Given the description of an element on the screen output the (x, y) to click on. 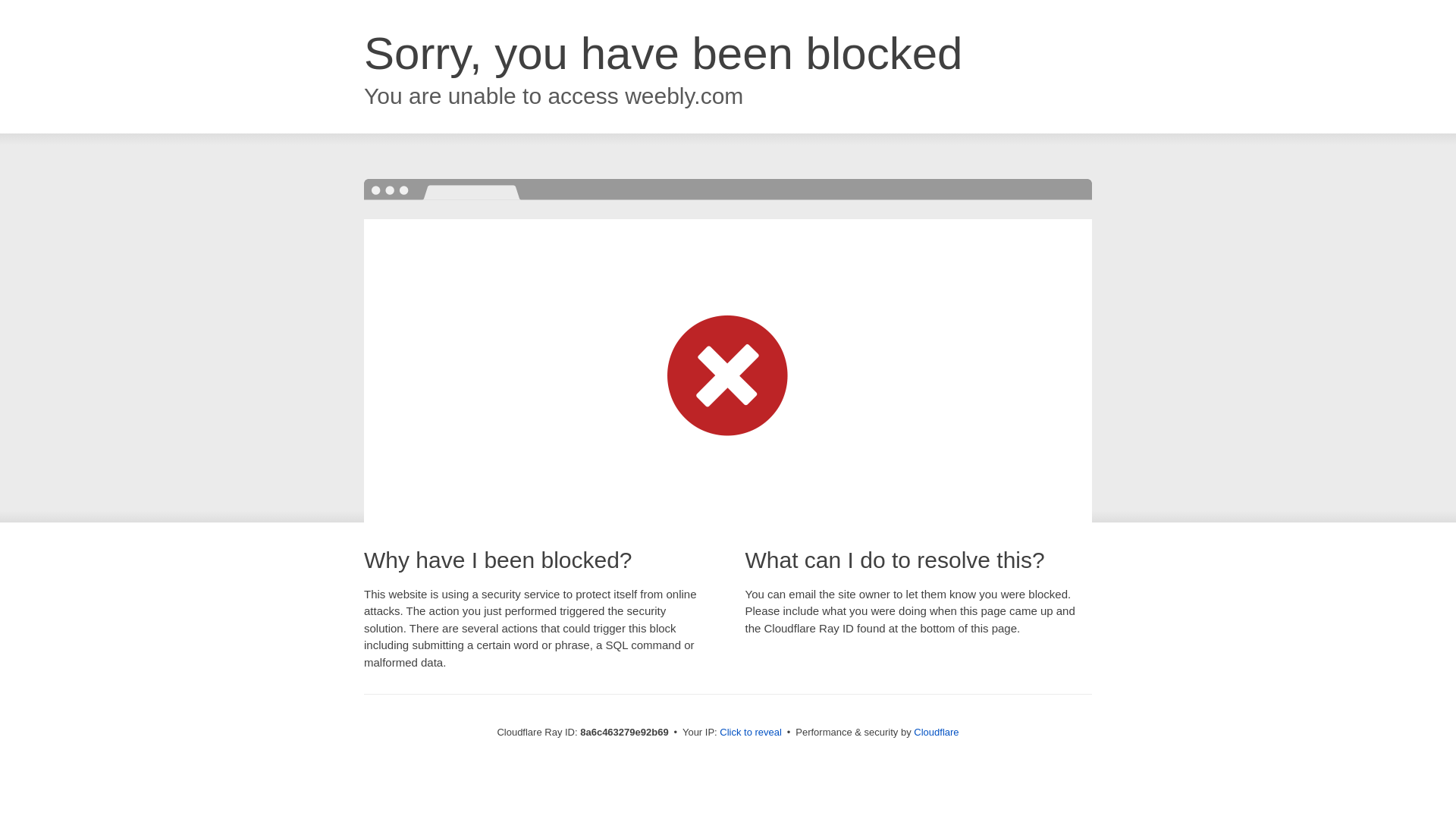
Click to reveal (750, 732)
Cloudflare (936, 731)
